Given the description of an element on the screen output the (x, y) to click on. 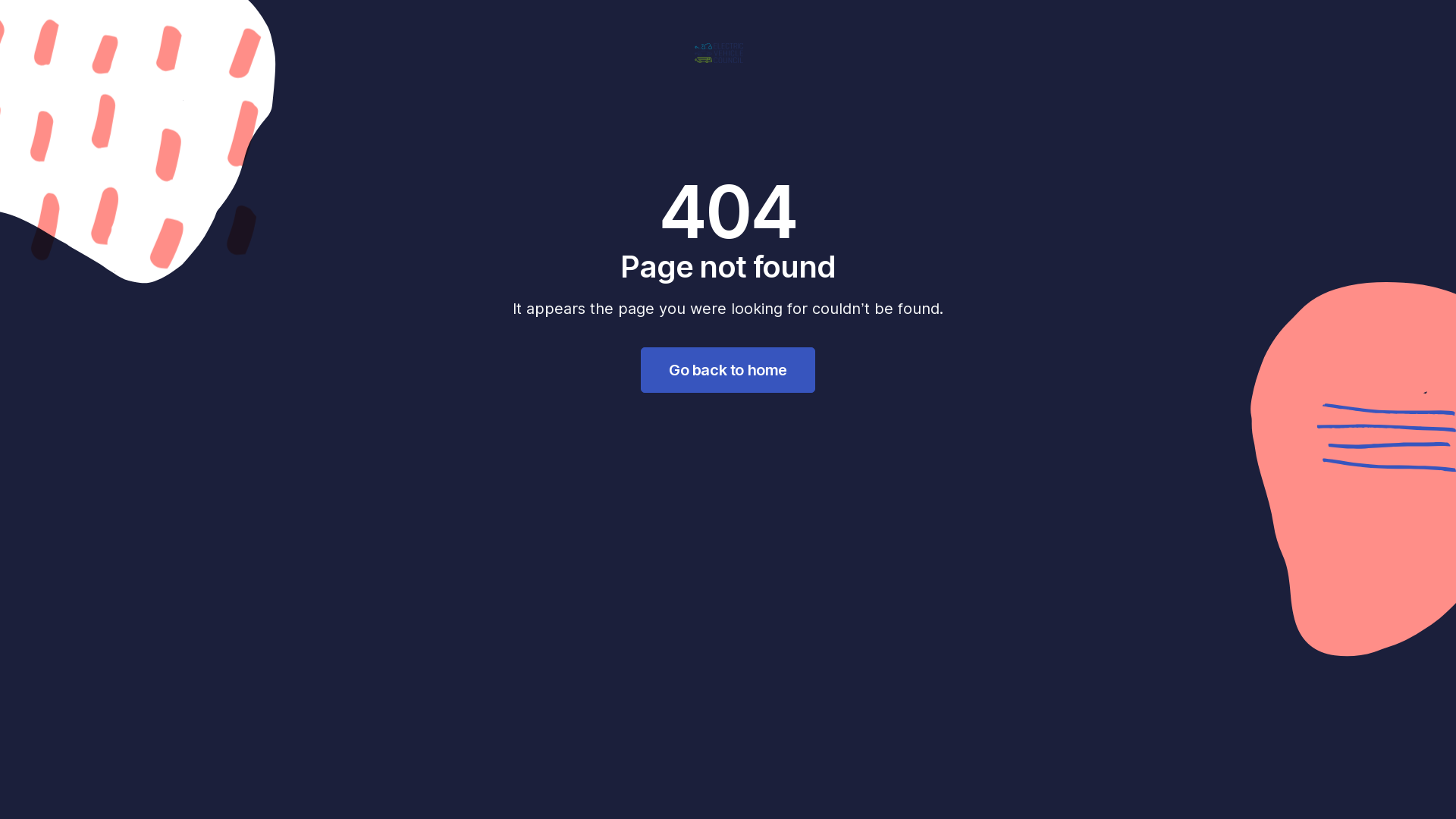
Go back to home Element type: text (727, 369)
